Given the description of an element on the screen output the (x, y) to click on. 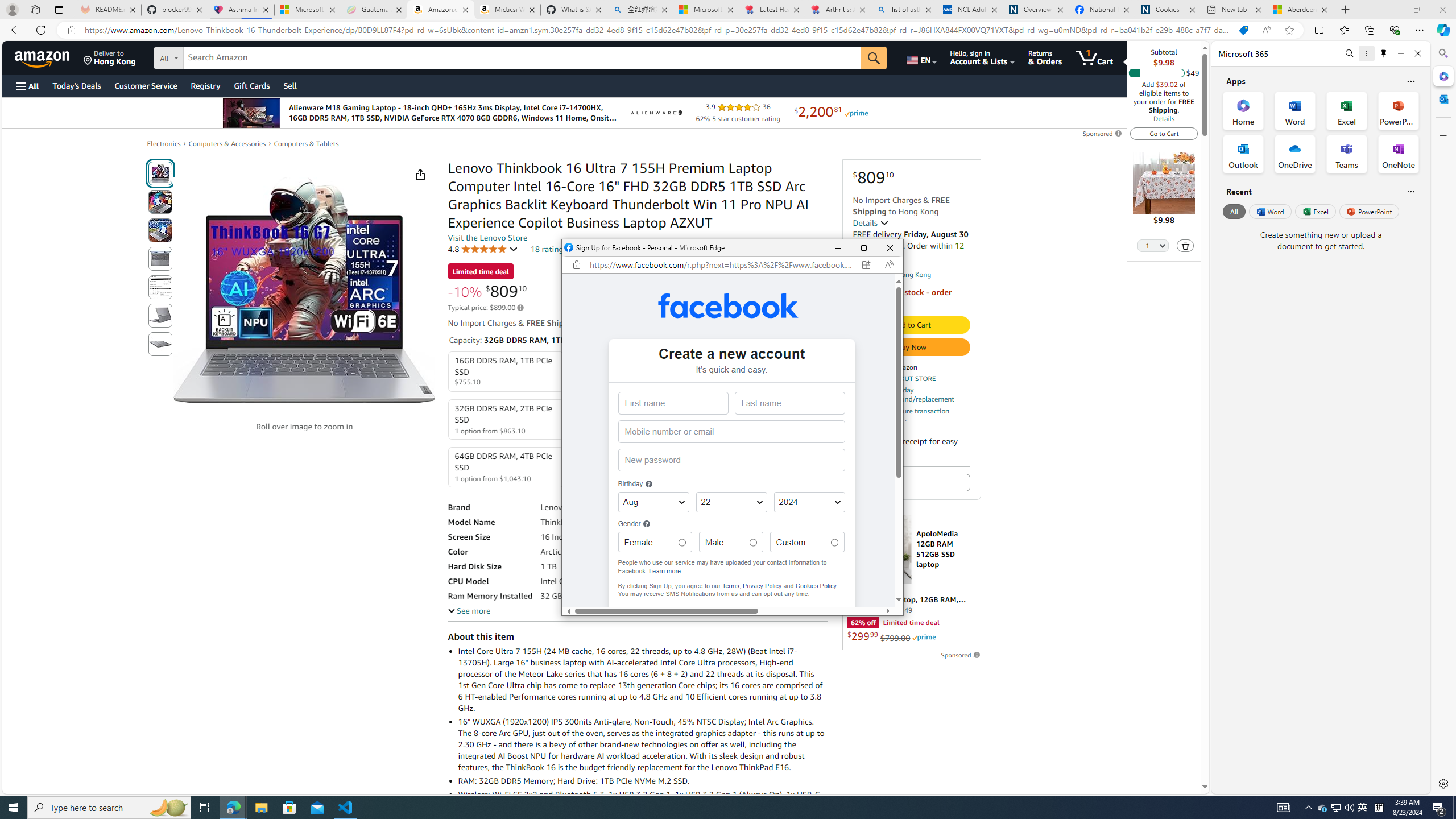
Microsoft Edge - 2 running windows (233, 807)
Learn more about Amazon pricing and savings (520, 307)
PowerPoint (1369, 210)
Returns & Orders (1045, 57)
Day (731, 502)
Logo (655, 112)
RAM: 32GB DDR5 Memory; Hard Drive: 1TB PCIe NVMe M.2 SSD. (642, 780)
